Given the description of an element on the screen output the (x, y) to click on. 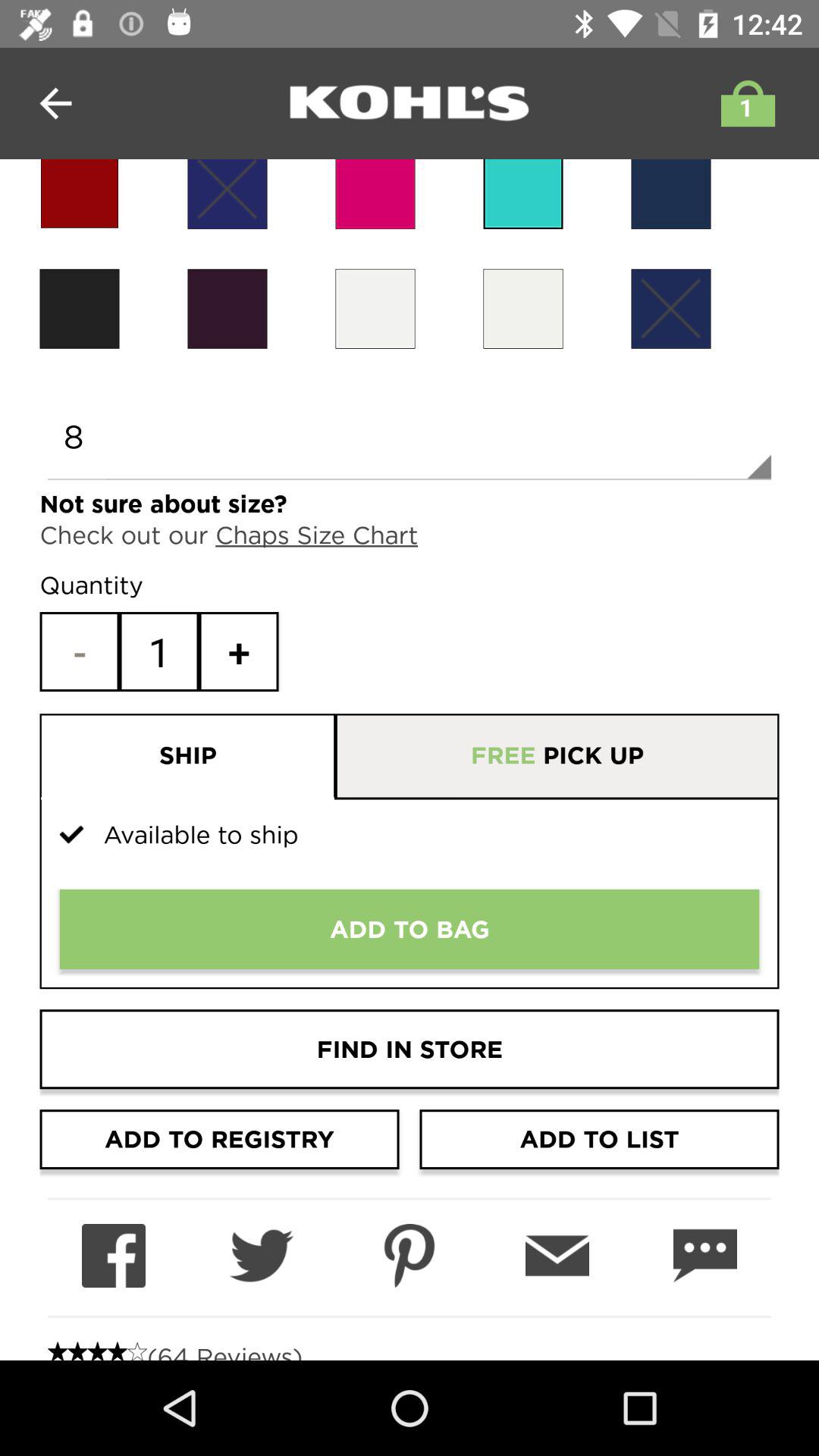
go to kohls homepage (409, 103)
